Given the description of an element on the screen output the (x, y) to click on. 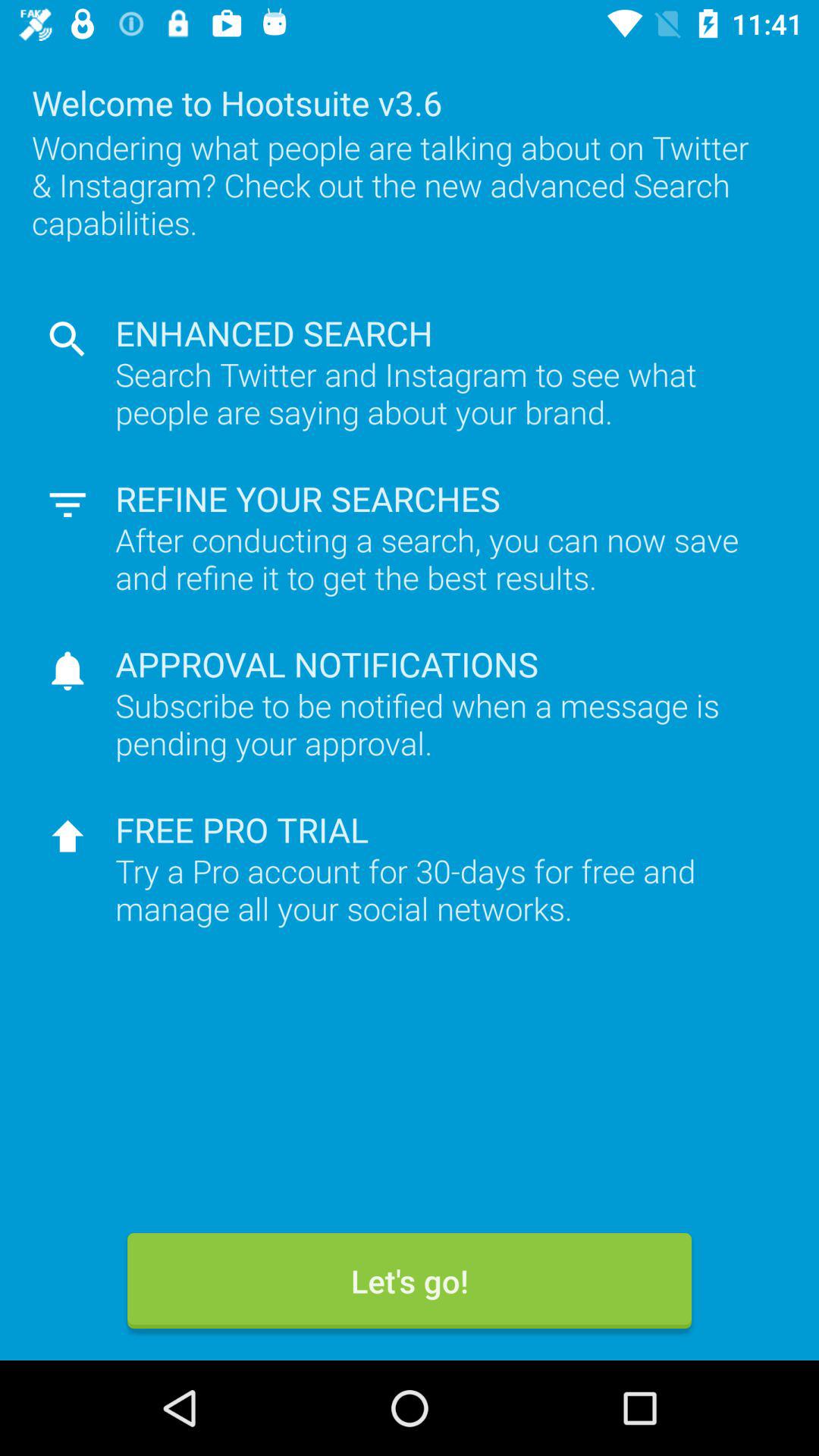
click on lets go at the bottom of the page (409, 1281)
click the search button on the web page (67, 338)
click on the icon left to refine your searches (67, 505)
